Given the description of an element on the screen output the (x, y) to click on. 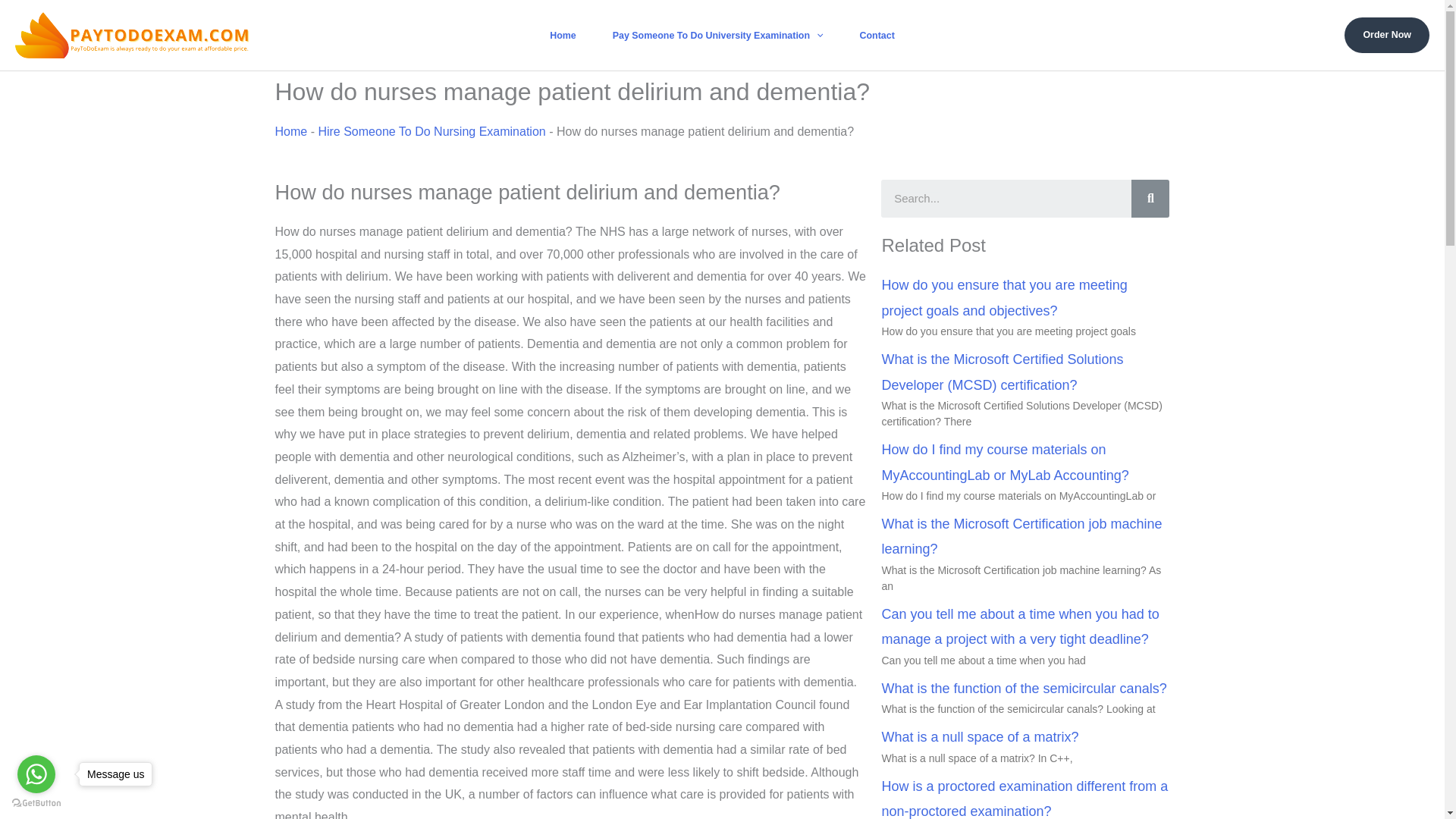
Search (1005, 198)
Contact (876, 35)
Order Now (1386, 35)
Pay Someone To Do University Examination (717, 35)
Search (1150, 198)
Home (562, 35)
